Given the description of an element on the screen output the (x, y) to click on. 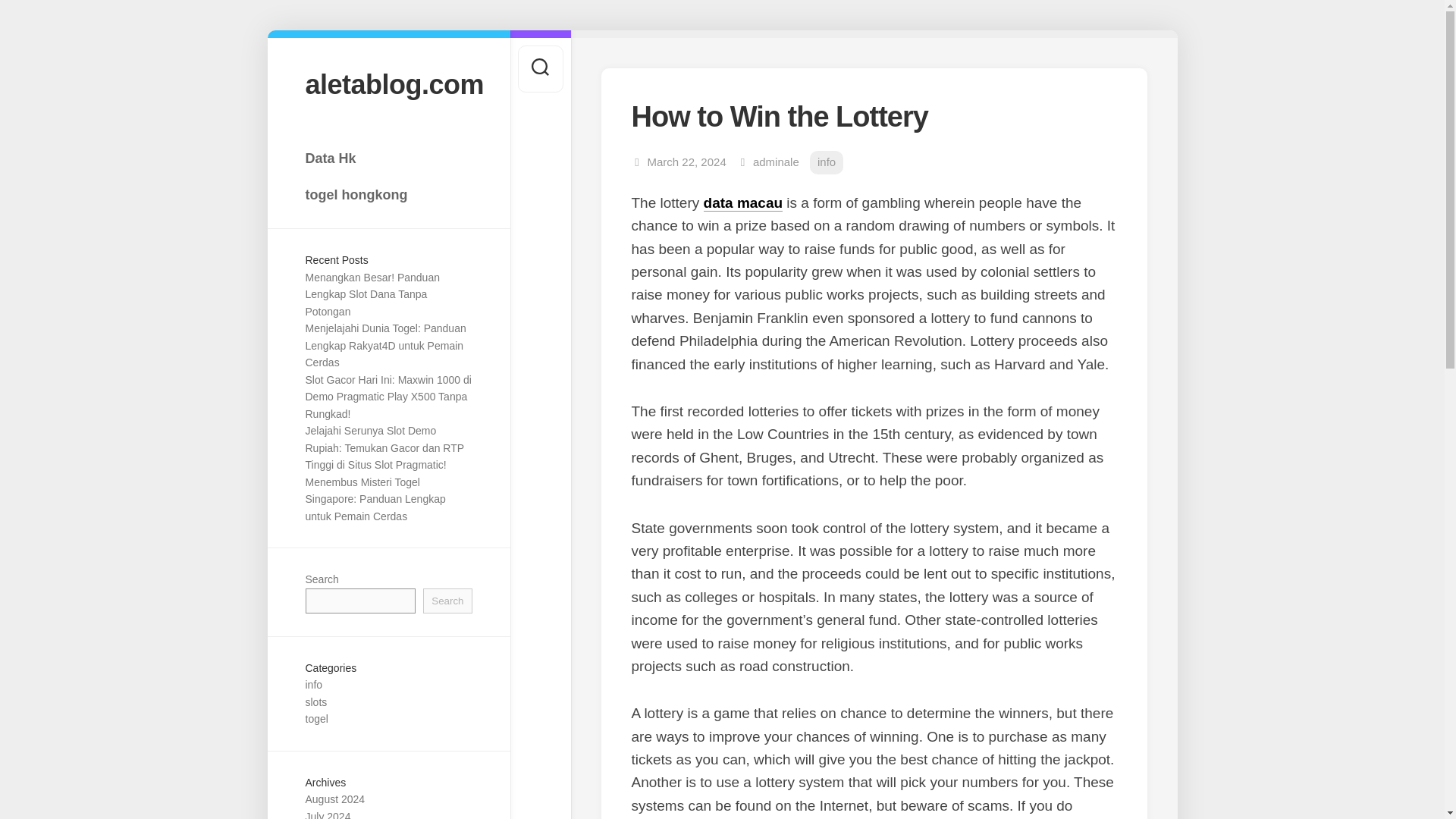
August 2024 (334, 799)
info (312, 684)
togel hongkong (387, 194)
aletablog.com (387, 83)
slots (315, 702)
July 2024 (327, 814)
Data Hk (387, 158)
